Given the description of an element on the screen output the (x, y) to click on. 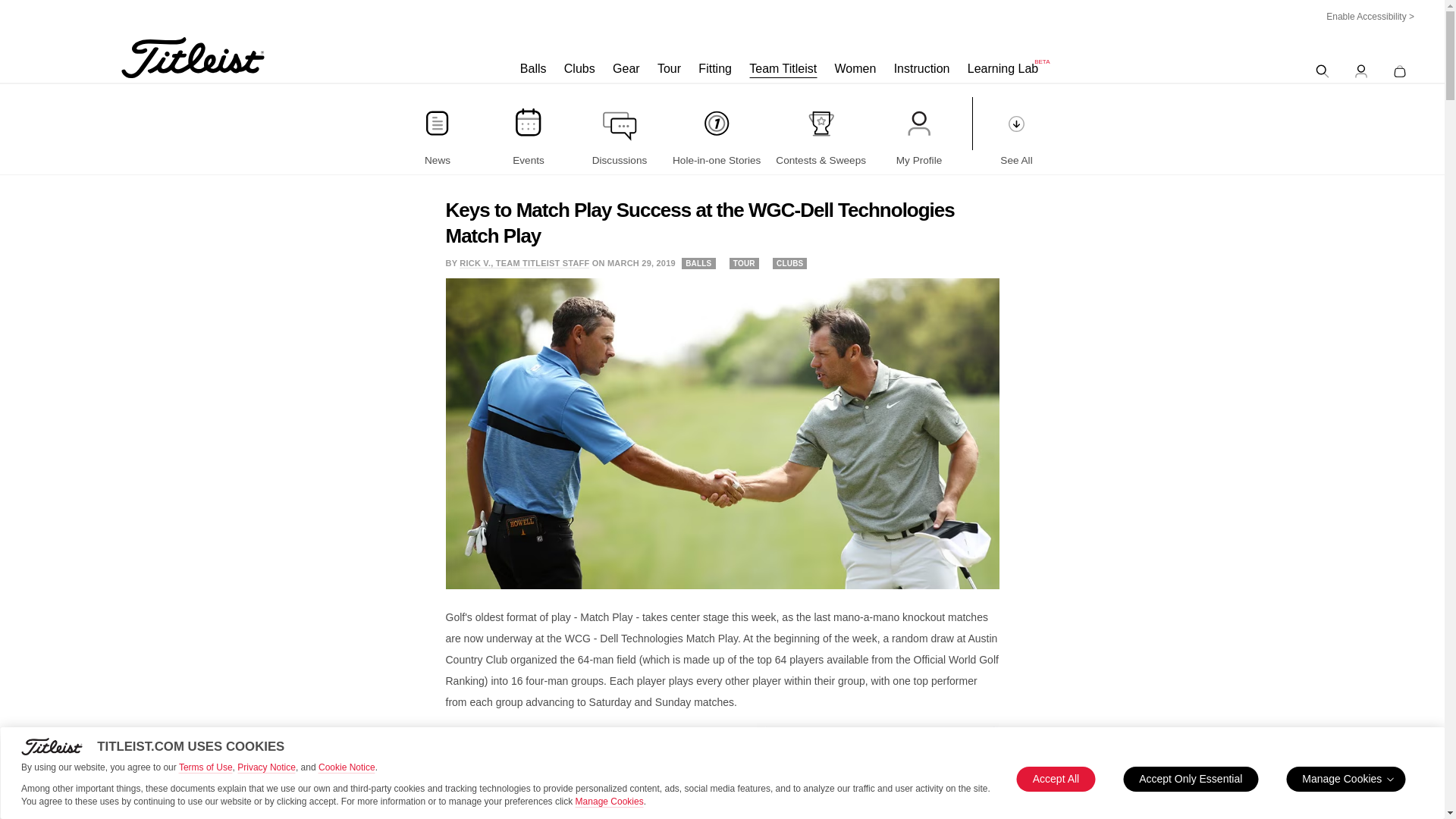
Team Titleist (782, 69)
Manage Cookies (609, 801)
Tour (669, 69)
Gear (626, 69)
MY CART (1399, 66)
Privacy Notice (266, 767)
Clubs (579, 69)
MY ACCOUNT (1361, 66)
Terms of Use (205, 767)
